Given the description of an element on the screen output the (x, y) to click on. 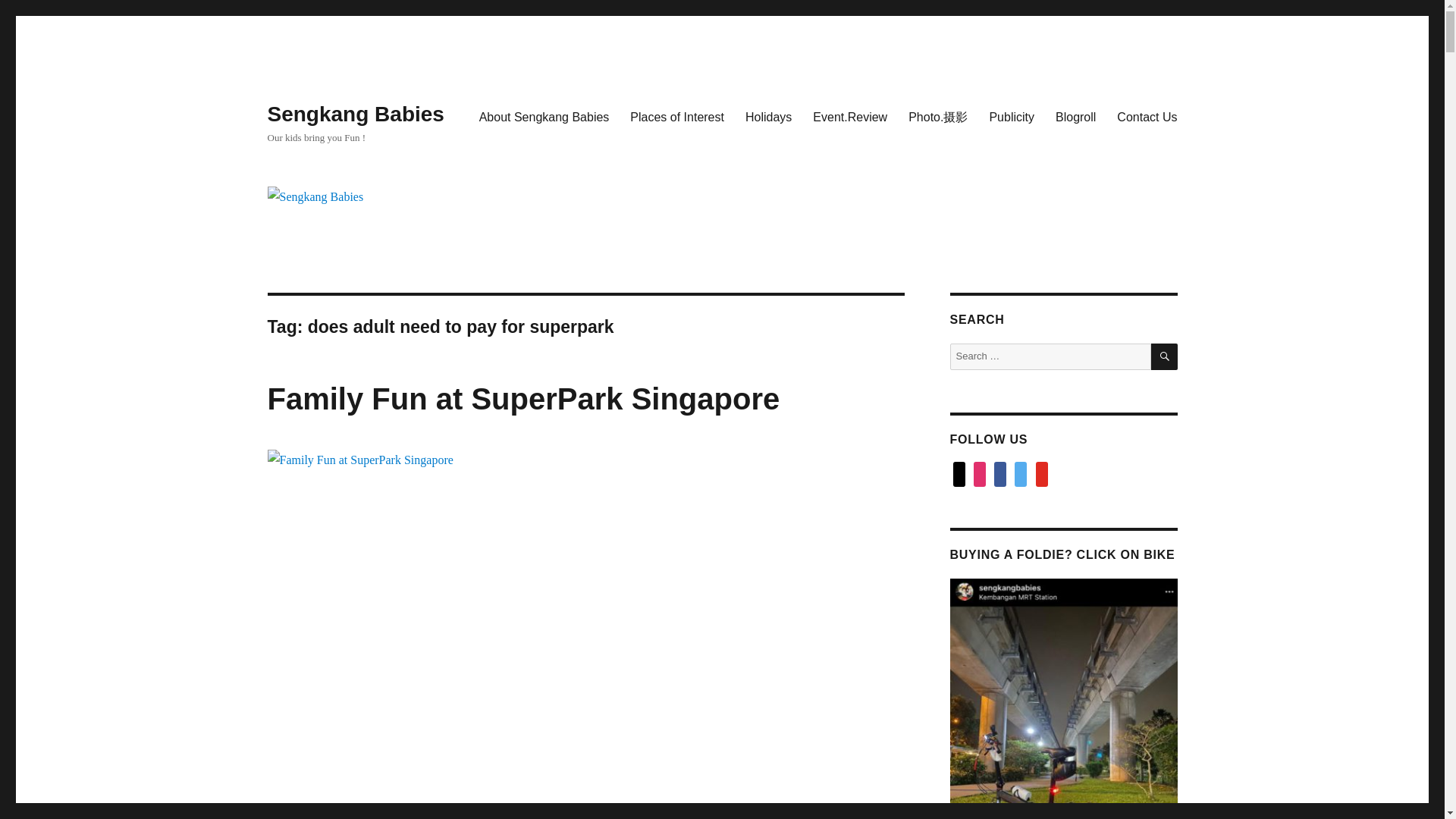
Places of Interest (677, 116)
Facebook (1000, 473)
Event.Review (850, 116)
Blogroll (1075, 116)
Default Label (1041, 473)
Contact Us (1147, 116)
About Sengkang Babies (544, 116)
Family Fun at SuperPark Singapore (522, 398)
Instagram (979, 473)
Publicity (1011, 116)
Twitter (1020, 473)
Sengkang Babies (355, 114)
Default Label (957, 473)
Holidays (768, 116)
